Given the description of an element on the screen output the (x, y) to click on. 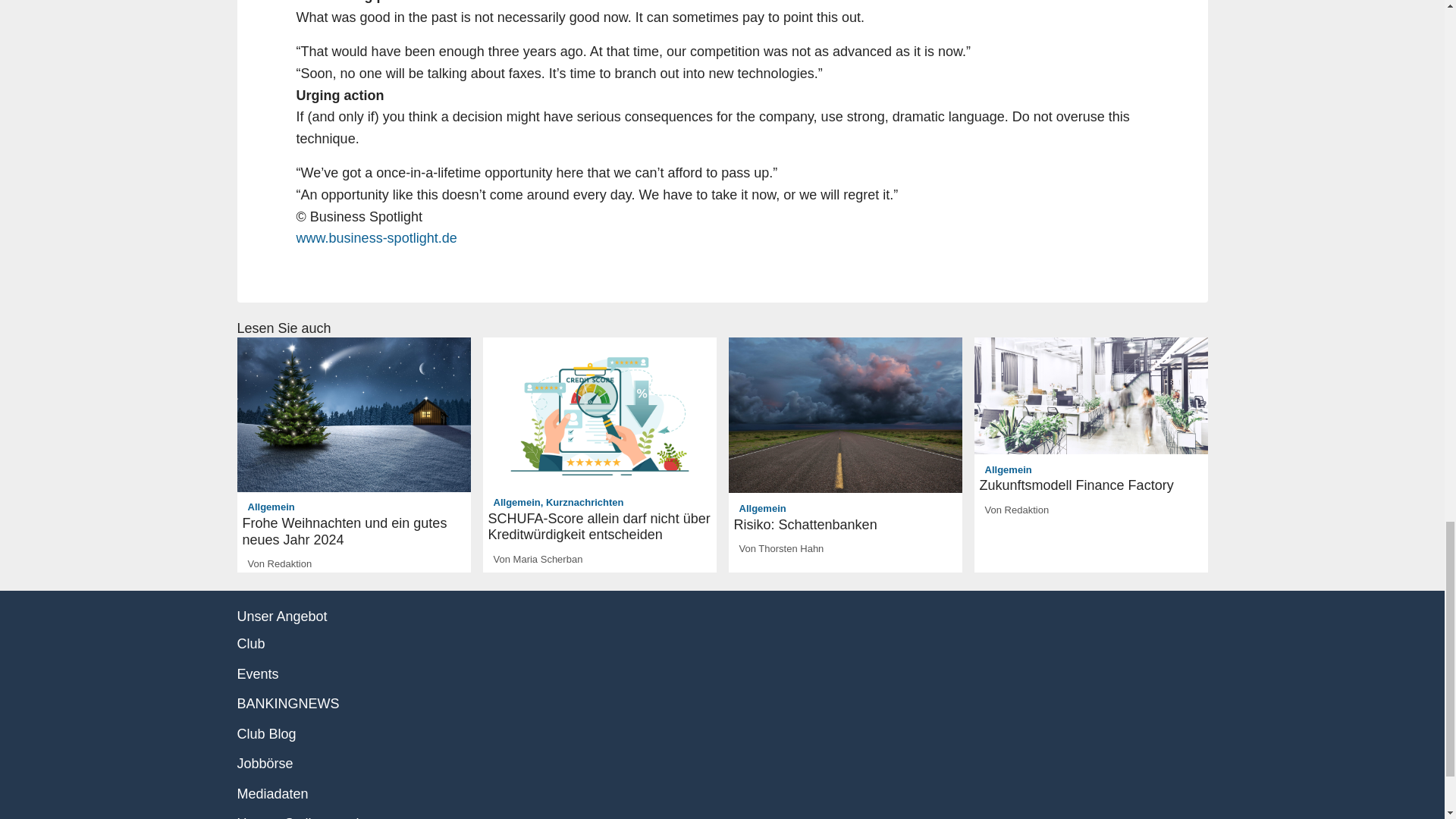
Allgemein (271, 506)
Risiko: Schattenbanken  (844, 524)
Allgemein (516, 501)
Frohe Weihnachten und ein gutes neues Jahr 2024 (354, 531)
Kurznachrichten (585, 501)
Allgemein (762, 508)
www.business-spotlight.de (377, 237)
